Given the description of an element on the screen output the (x, y) to click on. 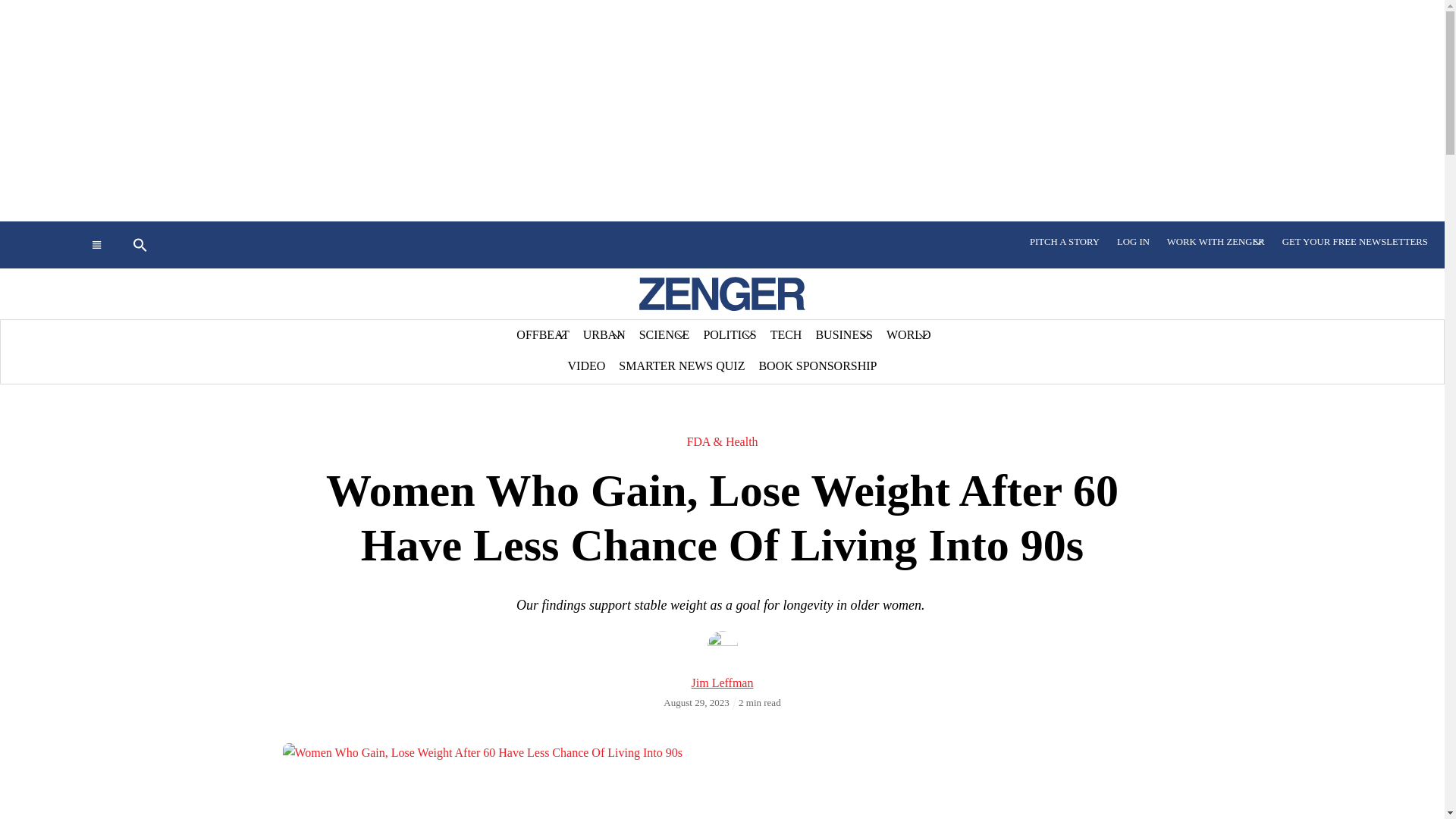
BUSINESS (843, 335)
OFFBEAT (542, 335)
LOG IN (1132, 242)
TECH (785, 335)
WORK WITH ZENGER (1215, 242)
Zenger-Logo2023 (722, 293)
PITCH A STORY (1065, 242)
POLITICS (728, 335)
